Given the description of an element on the screen output the (x, y) to click on. 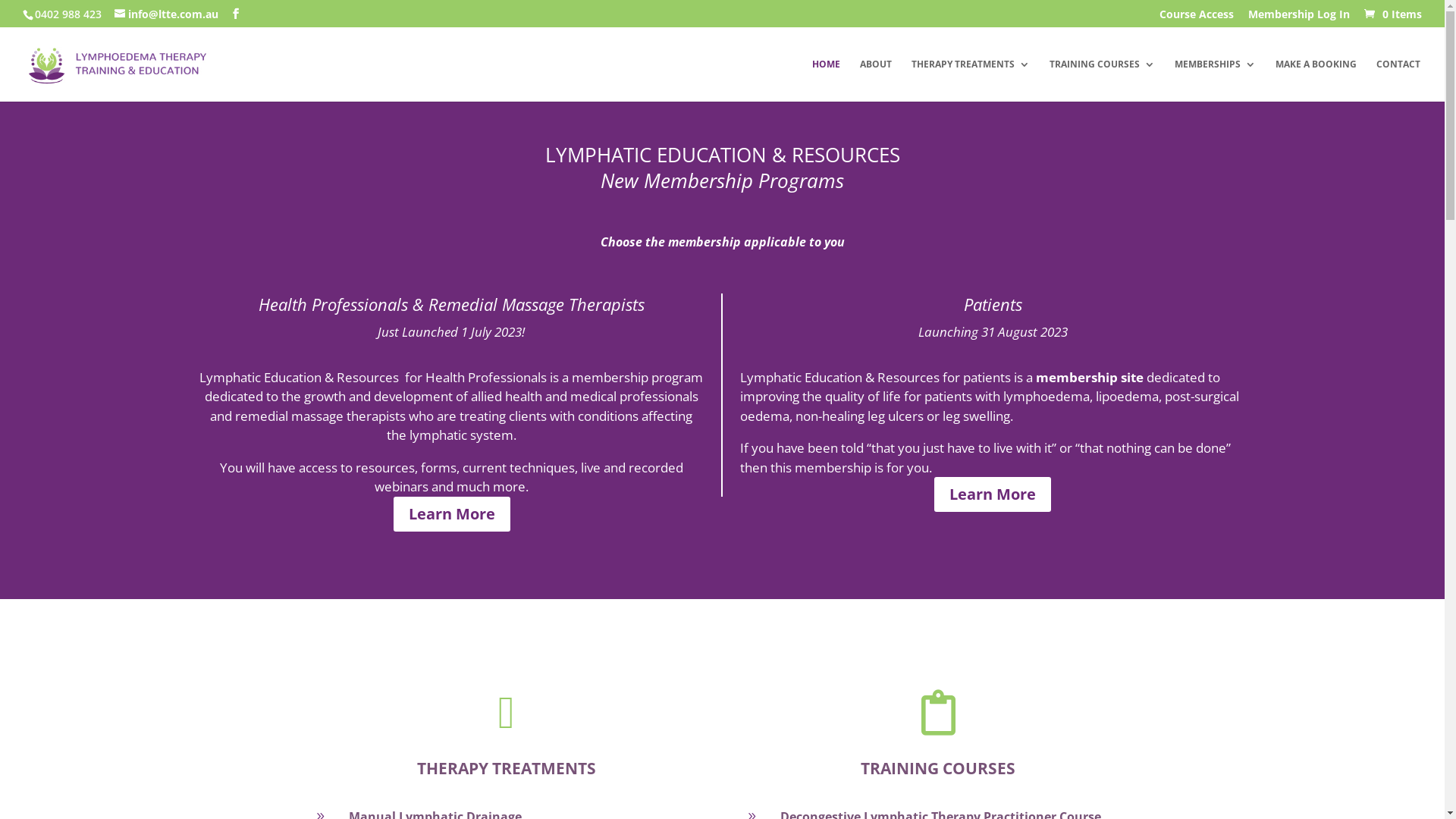
MEMBERSHIPS Element type: text (1214, 80)
THERAPY TREATMENTS Element type: text (970, 80)
Learn More Element type: text (992, 493)
Membership Log In Element type: text (1298, 18)
Course Access Element type: text (1196, 18)
MAKE A BOOKING Element type: text (1315, 80)
Learn More Element type: text (451, 513)
TRAINING COURSES Element type: text (1101, 80)
CONTACT Element type: text (1398, 80)
ABOUT Element type: text (875, 80)
HOME Element type: text (826, 80)
0 Items Element type: text (1391, 13)
info@ltte.com.au Element type: text (166, 13)
